Given the description of an element on the screen output the (x, y) to click on. 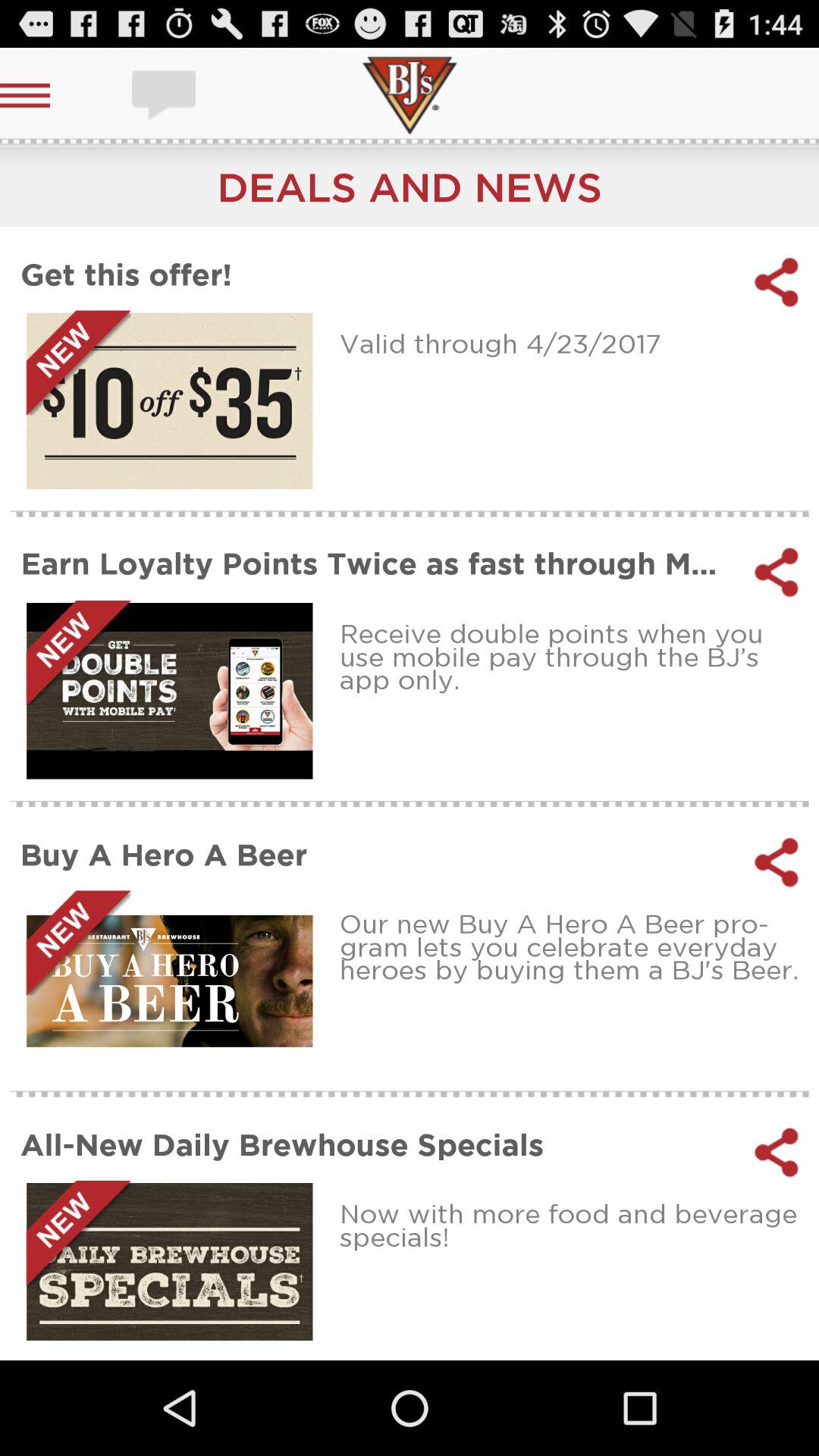
turn off receive double points app (573, 656)
